Given the description of an element on the screen output the (x, y) to click on. 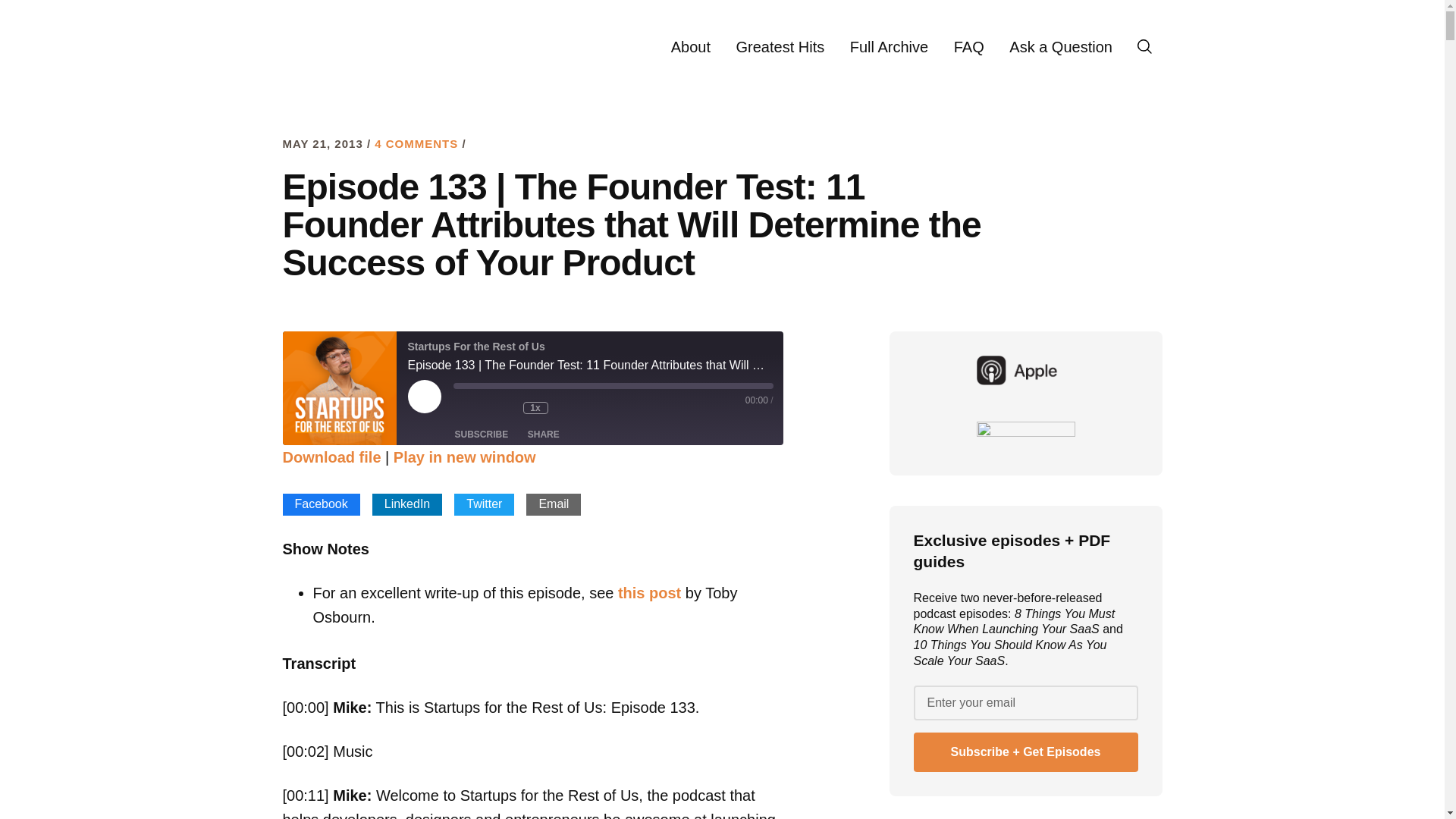
1x (535, 408)
Facebook (320, 504)
Twitter (483, 504)
Subscribe (481, 434)
SHARE (543, 434)
Fast Forward 30 seconds (572, 407)
Share (543, 434)
Fast Forward 30 seconds (572, 407)
Download file (331, 457)
